Given the description of an element on the screen output the (x, y) to click on. 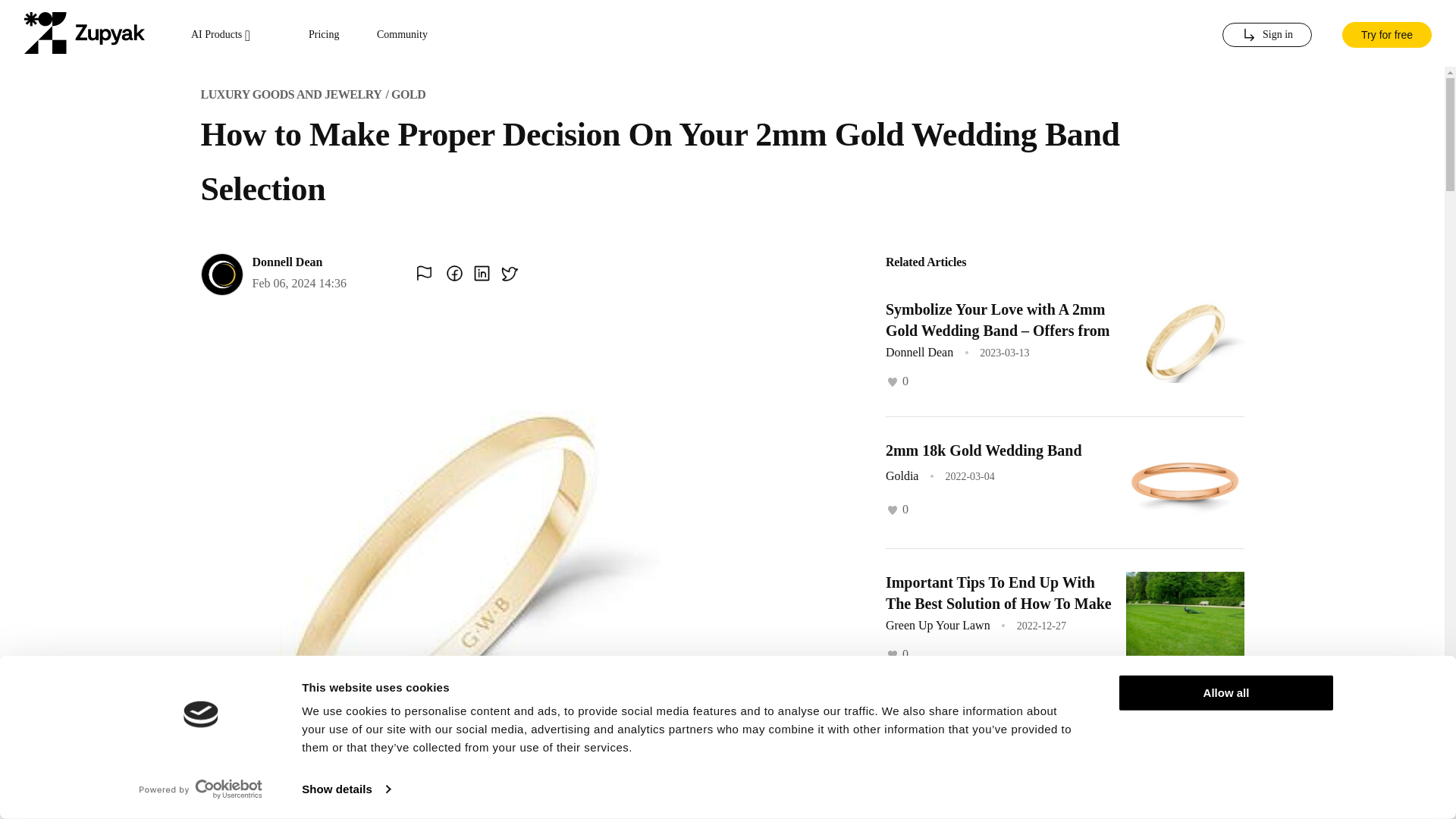
2mm 18k Gold Wedding Band (983, 449)
Show details (345, 789)
How to make your VPN undetectable (963, 733)
